Given the description of an element on the screen output the (x, y) to click on. 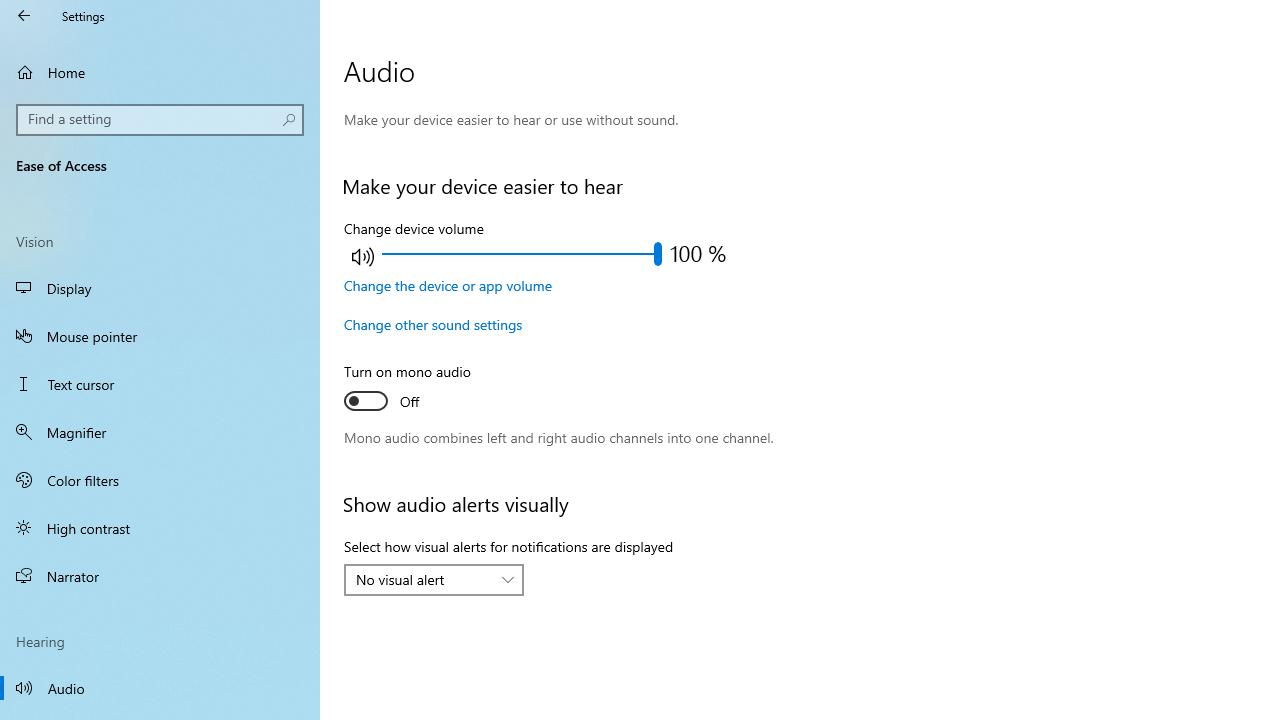
Color filters (160, 479)
Select how visual alerts for notifications are displayed (433, 579)
Change device volume (521, 254)
Text cursor (160, 384)
Turn on mono audio (417, 389)
Change other sound settings (433, 324)
No visual alert (423, 579)
Magnifier (160, 431)
Display (160, 287)
Audio (160, 687)
High contrast (160, 527)
Narrator (160, 575)
